Given the description of an element on the screen output the (x, y) to click on. 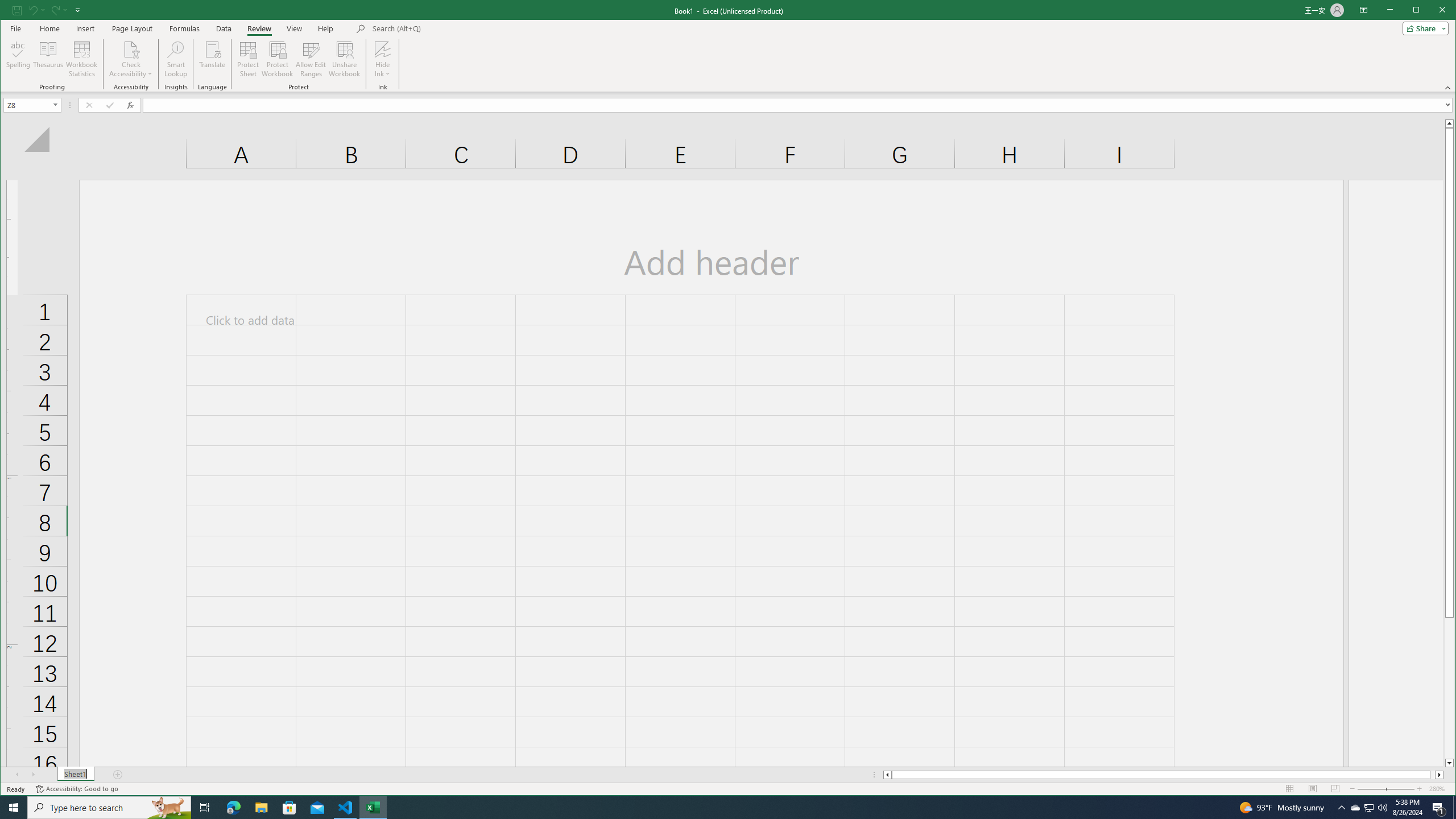
Page down (1449, 687)
Workbook Statistics (82, 59)
Notification Chevron (1341, 807)
Start (13, 807)
Search highlights icon opens search home window (167, 807)
Unshare Workbook (344, 59)
Action Center, 1 new notification (1439, 807)
